Given the description of an element on the screen output the (x, y) to click on. 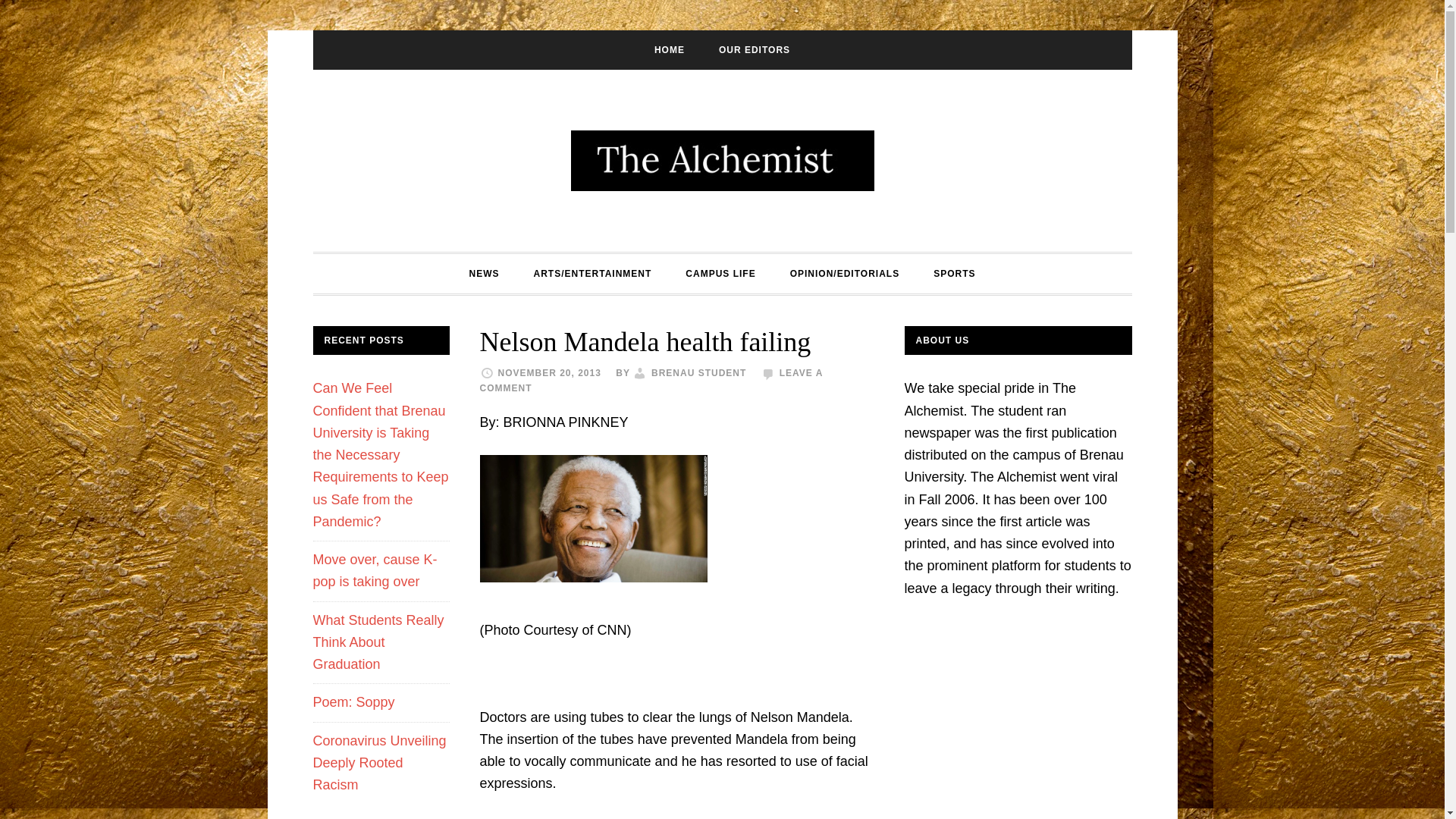
HOME (669, 49)
OUR EDITORS (754, 49)
THE ALCHEMIST (721, 160)
Coronavirus Unveiling Deeply Rooted Racism (379, 763)
Brenau Sports (954, 273)
Alchemist Home Page (669, 49)
News (482, 273)
Campus Life (719, 273)
Poem: Soppy (353, 702)
LEAVE A COMMENT (650, 380)
NEWS (482, 273)
BRENAU STUDENT (697, 372)
SPORTS (954, 273)
Arts and Entertainment (592, 273)
